Given the description of an element on the screen output the (x, y) to click on. 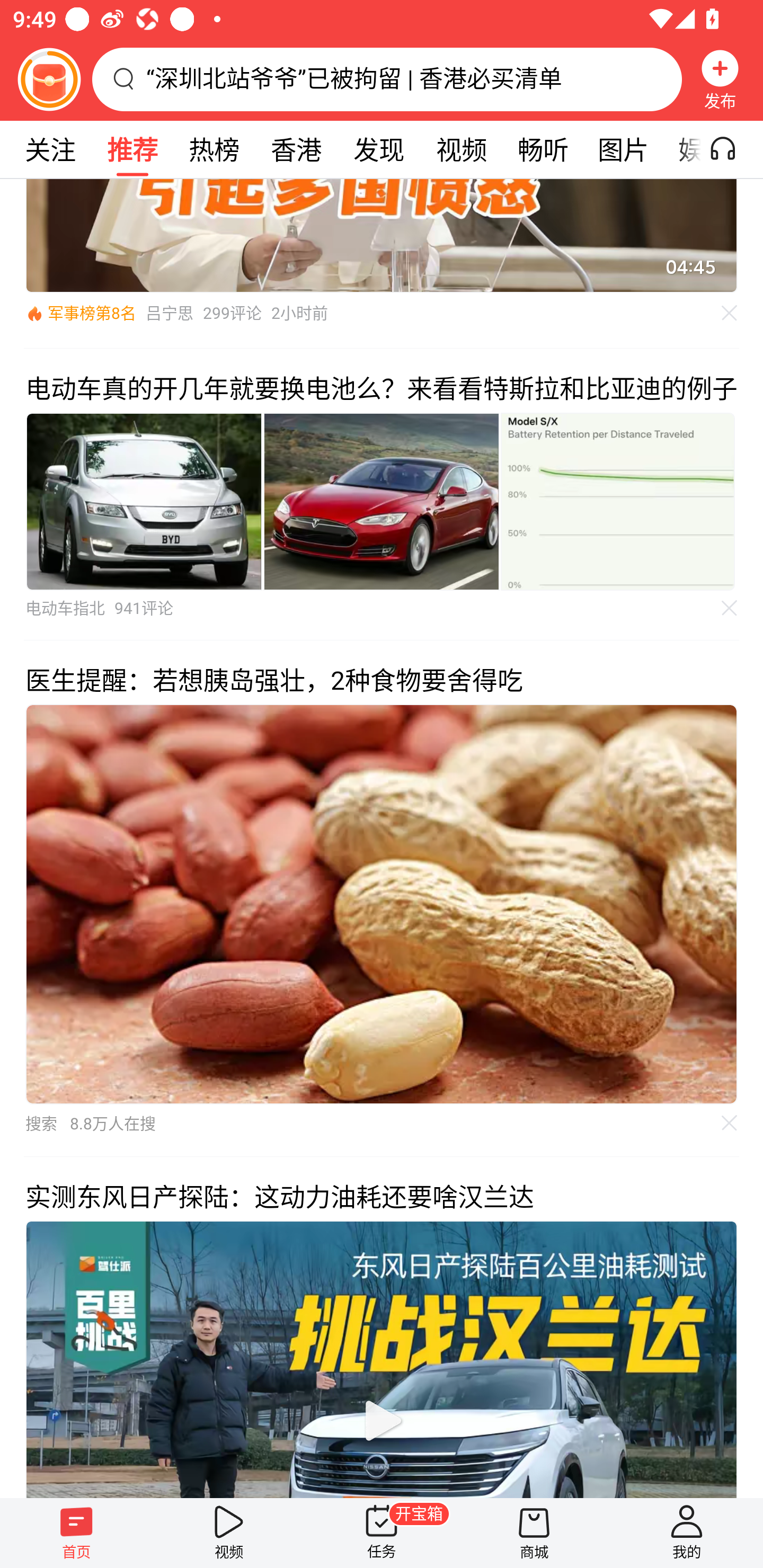
阅读赚金币 (48, 79)
“深圳北站爷爷”已被拘留 | 香港必买清单 搜索框，“深圳北站爷爷”已被拘留 | 香港必买清单 (387, 79)
发布 发布，按钮 (720, 78)
关注 (50, 149)
推荐 (132, 149)
热榜 (213, 149)
香港 (295, 149)
发现 (378, 149)
视频 (461, 149)
畅听 (542, 149)
图片 (623, 149)
听一听开关 (732, 149)
不感兴趣 (729, 313)
内容图片 (143, 501)
内容图片 (381, 501)
内容图片 (617, 501)
不感兴趣 (729, 608)
医生提醒：若想胰岛强壮，2种食物要舍得吃 搜索 8.8万人在搜 不感兴趣 (381, 898)
不感兴趣 (729, 1122)
实测东风日产探陆：这动力油耗还要啥汉兰达 播放视频 视频播放器，双击屏幕打开播放控制 (381, 1327)
播放视频 视频播放器，双击屏幕打开播放控制 (381, 1358)
播放视频 (381, 1420)
首页 (76, 1532)
视频 (228, 1532)
任务 开宝箱 (381, 1532)
商城 (533, 1532)
我的 (686, 1532)
